Given the description of an element on the screen output the (x, y) to click on. 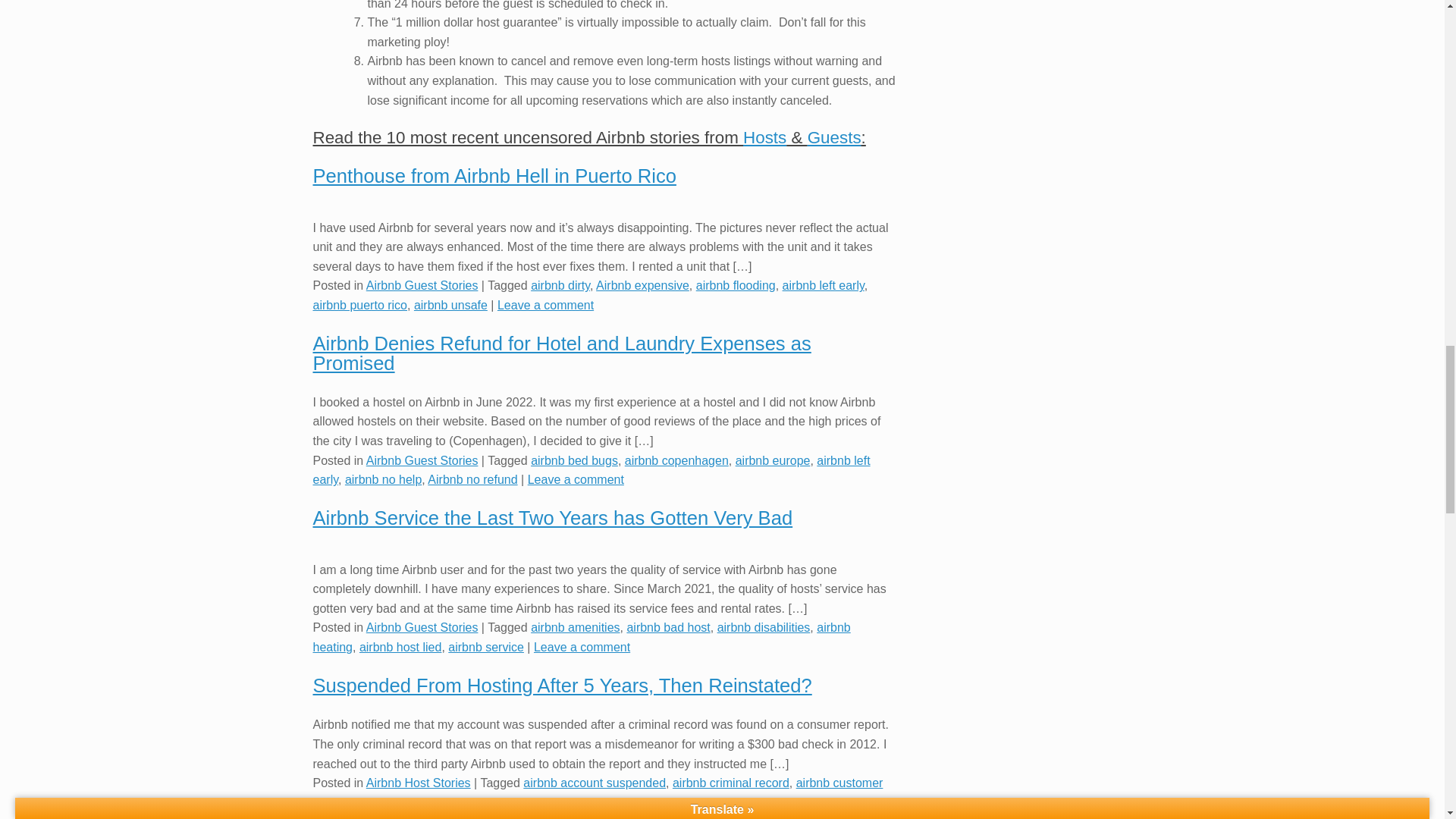
airbnb left early (823, 285)
Leave a comment (545, 305)
Airbnb Guest Stories (422, 285)
airbnb puerto rico (360, 305)
Guests (834, 137)
airbnb flooding (735, 285)
airbnb dirty (560, 285)
Hosts (764, 137)
Penthouse from Airbnb Hell in Puerto Rico (494, 175)
Airbnb expensive (641, 285)
